Given the description of an element on the screen output the (x, y) to click on. 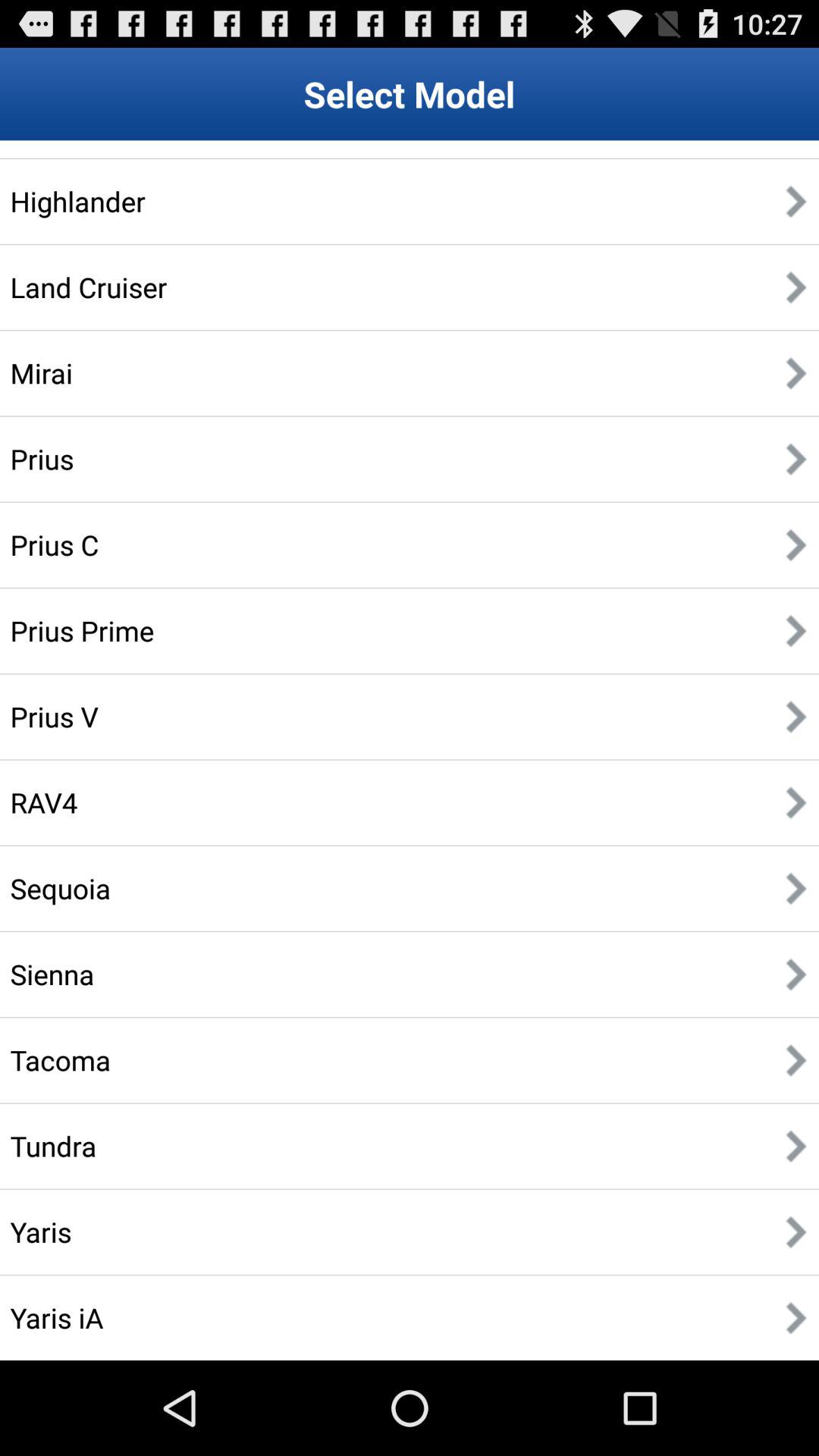
launch the item above sienna item (60, 888)
